Given the description of an element on the screen output the (x, y) to click on. 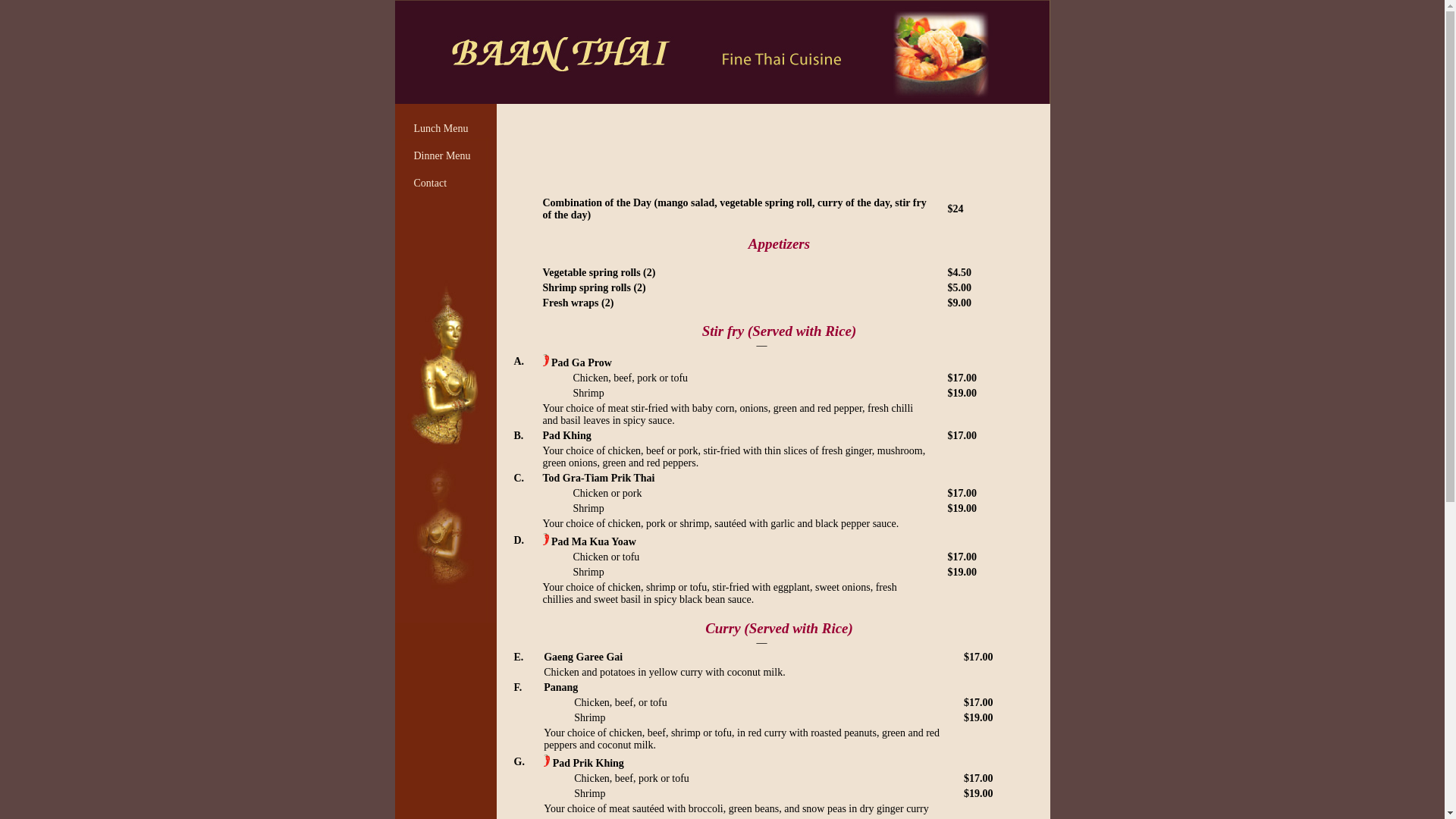
Contact Element type: text (430, 182)
Dinner Menu Element type: text (442, 155)
Lunch Menu Element type: text (441, 128)
